Given the description of an element on the screen output the (x, y) to click on. 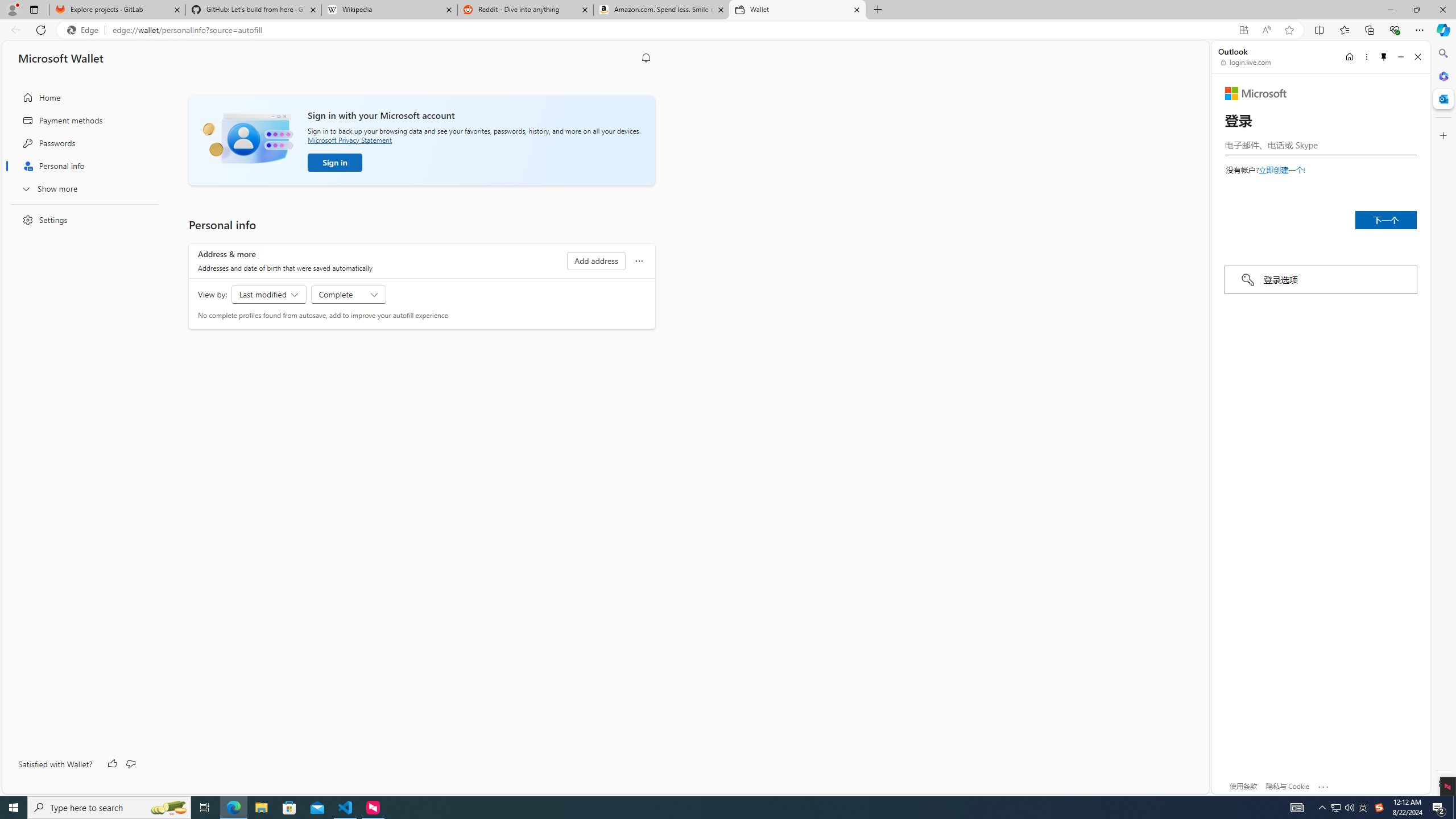
Notification (646, 58)
login.live.com (1246, 61)
Microsoft Privacy Statement (349, 139)
